Given the description of an element on the screen output the (x, y) to click on. 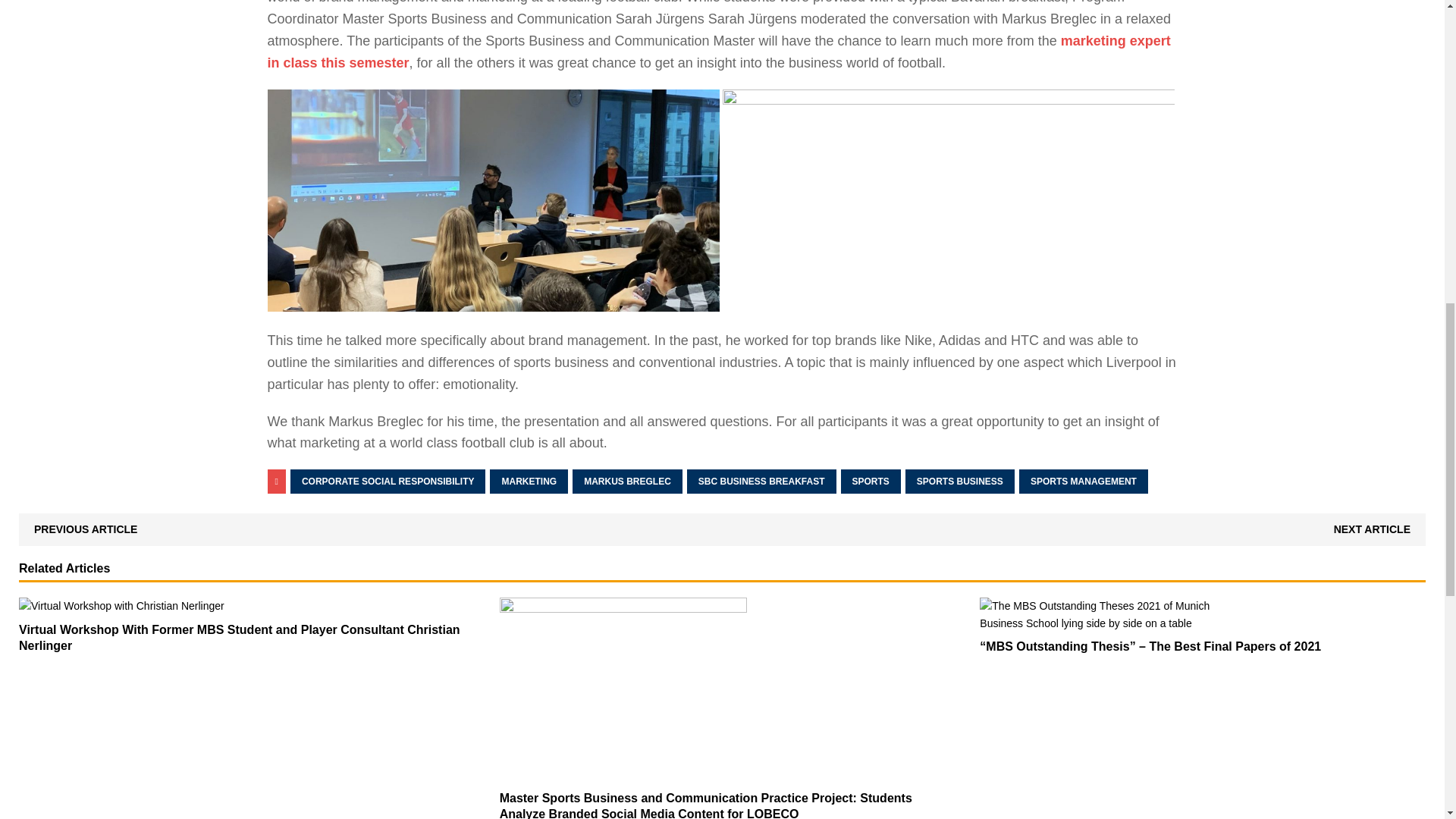
MARKUS BREGLEC (627, 481)
marketing expert in class this semester (718, 51)
MARKETING (528, 481)
CORPORATE SOCIAL RESPONSIBILITY (387, 481)
SBC BUSINESS BREAKFAST (761, 481)
